Given the description of an element on the screen output the (x, y) to click on. 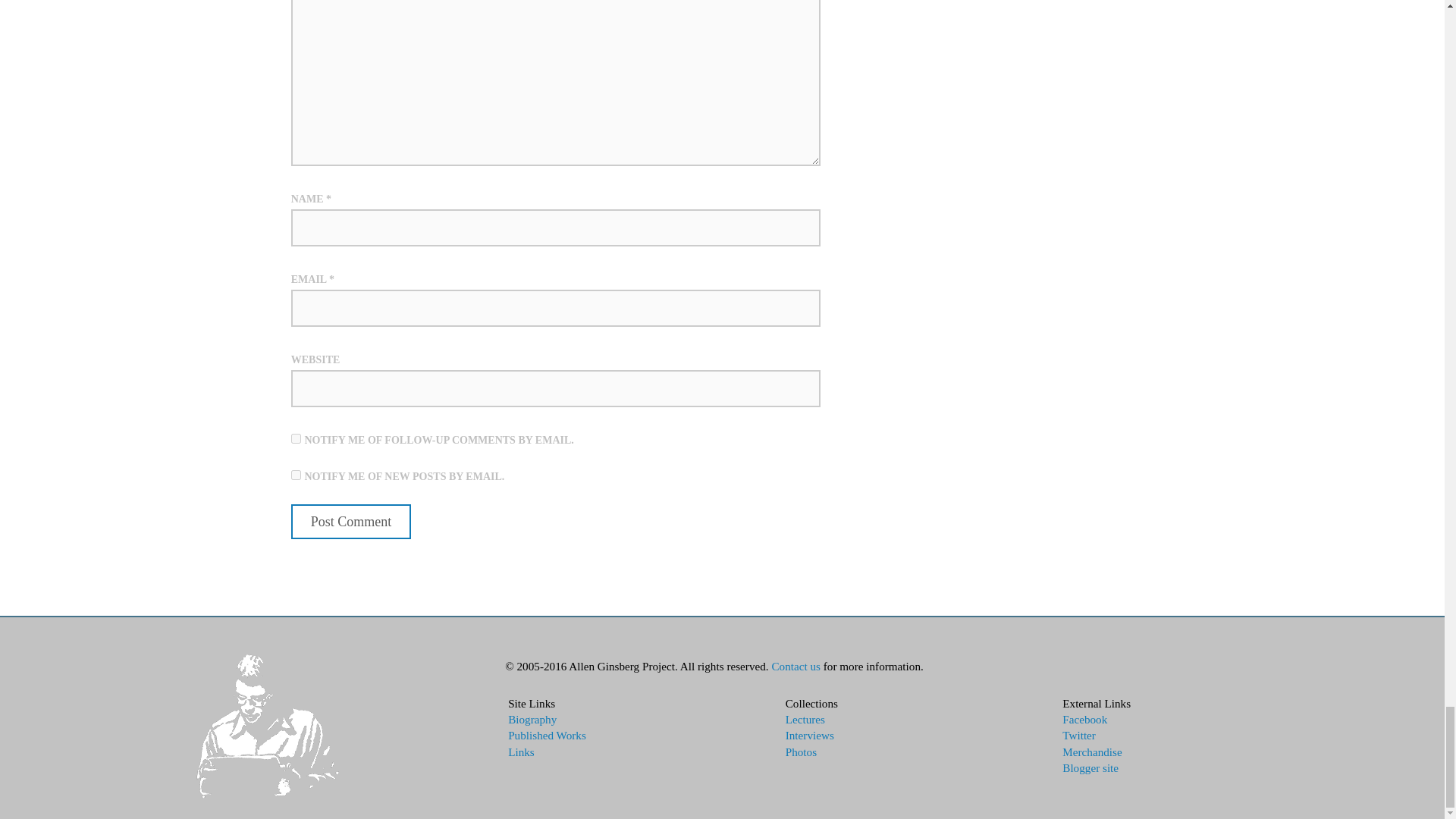
subscribe (296, 438)
Post Comment (351, 521)
subscribe (296, 474)
